Given the description of an element on the screen output the (x, y) to click on. 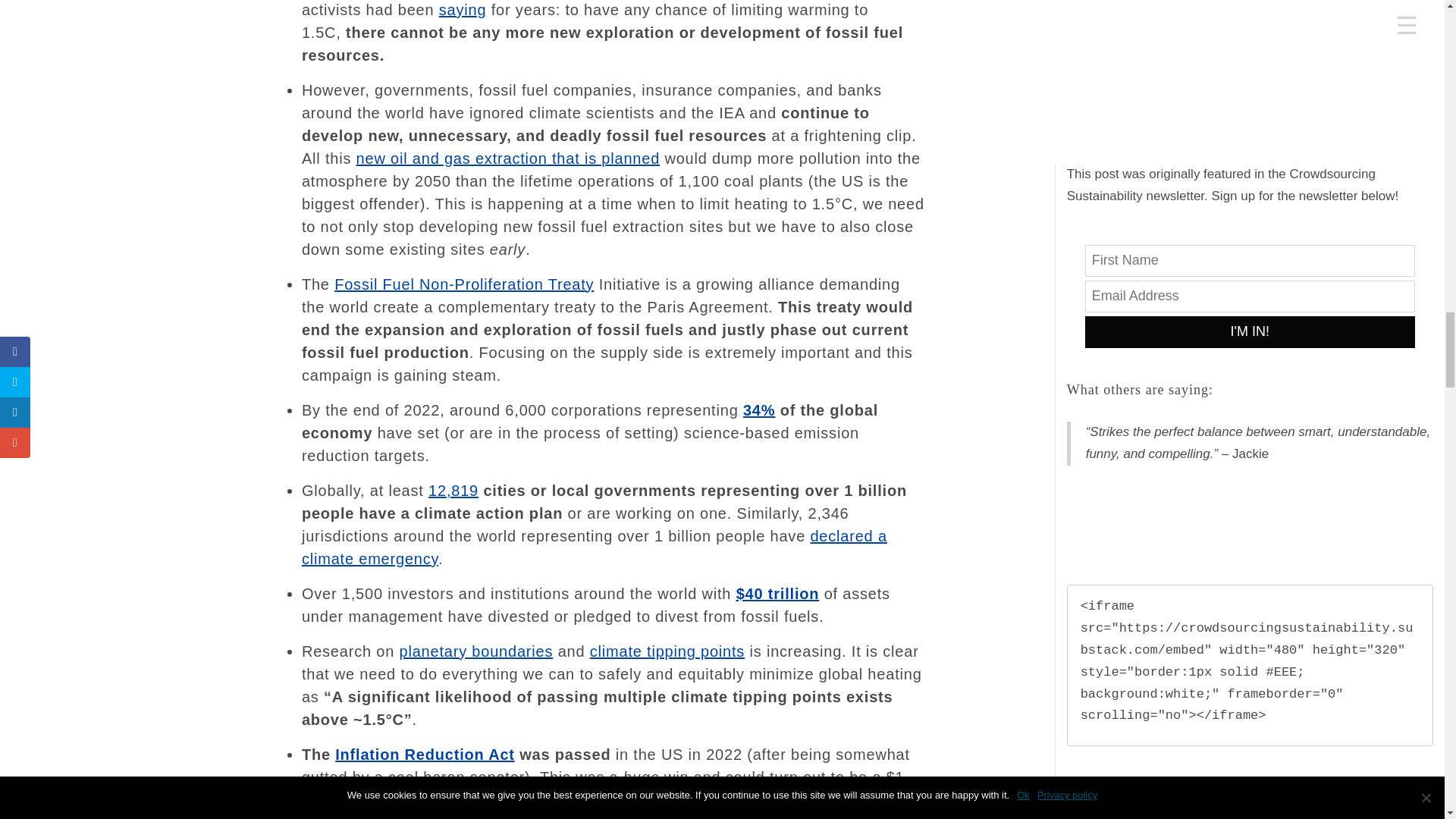
climate tipping points (666, 651)
Fossil Fuel Non-Proliferation Treaty (464, 284)
planetary boundaries (475, 651)
declared a climate emergency (593, 547)
Inflation Reduction Act (424, 754)
12,819 (453, 490)
saying (462, 9)
new oil and gas extraction that is planned (508, 158)
